Given the description of an element on the screen output the (x, y) to click on. 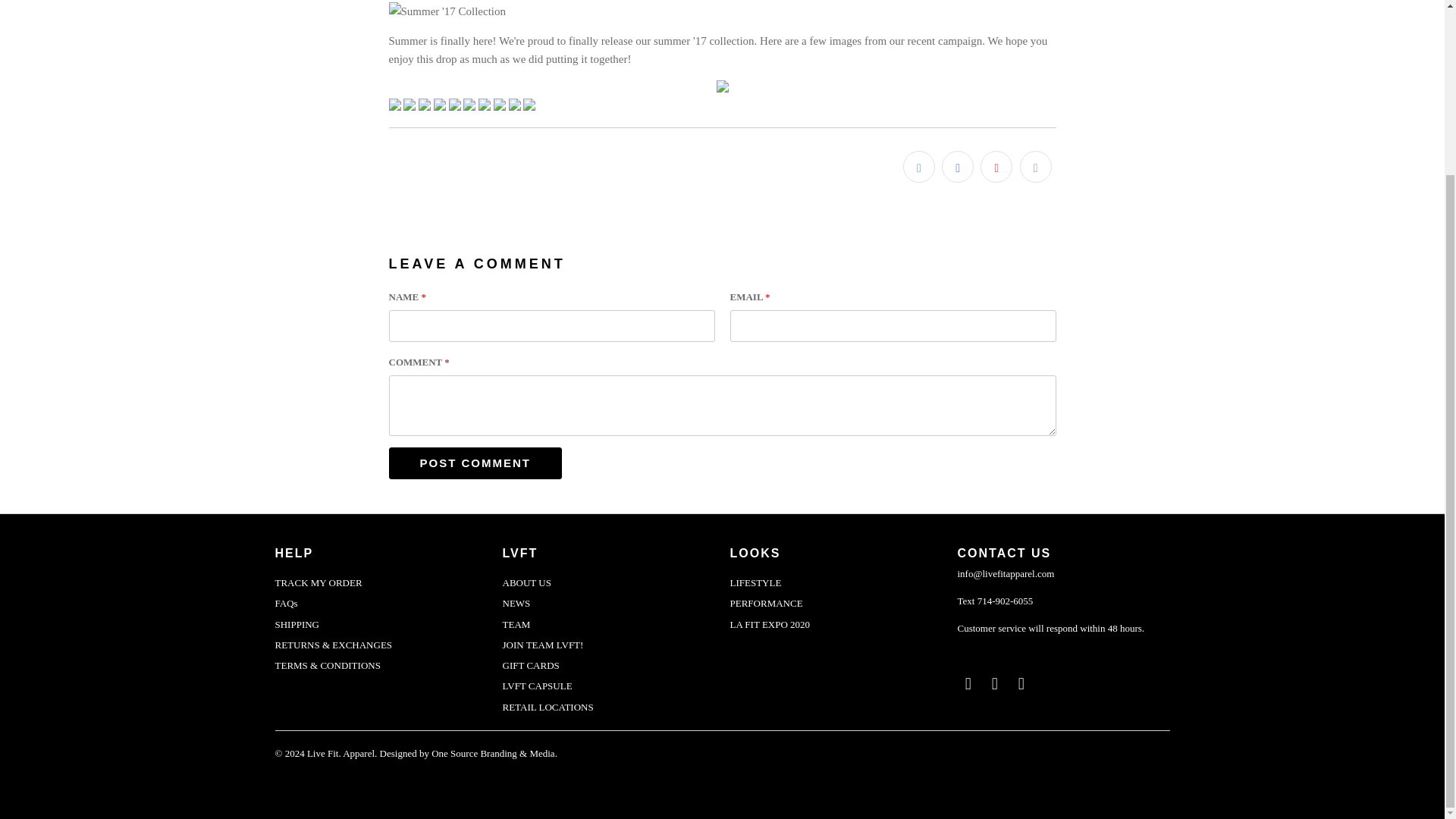
Share this on Facebook (958, 166)
Live Fit. Apparel on YouTube (995, 683)
Post comment (475, 463)
Share this on Pinterest (995, 166)
Share this on Twitter (918, 166)
Live Fit. Apparel on Instagram (1021, 683)
Email this to a friend (1035, 166)
Live Fit. Apparel on Facebook (967, 683)
